Given the description of an element on the screen output the (x, y) to click on. 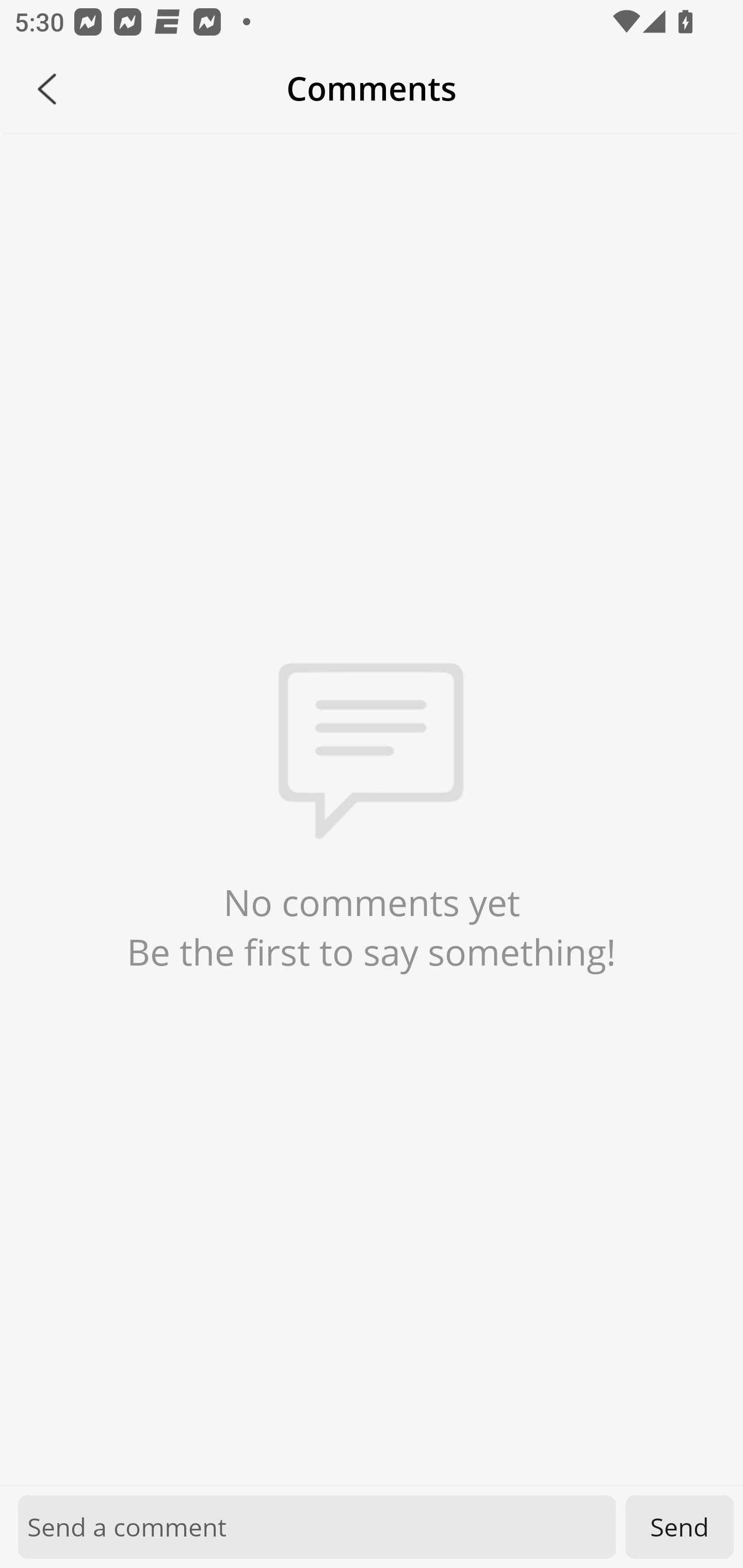
Back (46, 88)
Send a comment (316, 1526)
Send (679, 1526)
